Given the description of an element on the screen output the (x, y) to click on. 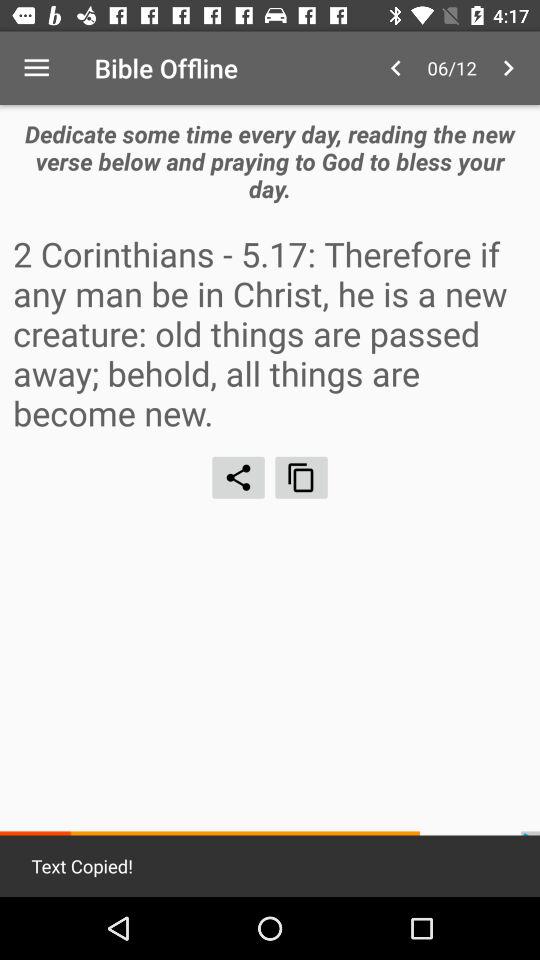
select 2 corinthians 5 icon (270, 332)
